Given the description of an element on the screen output the (x, y) to click on. 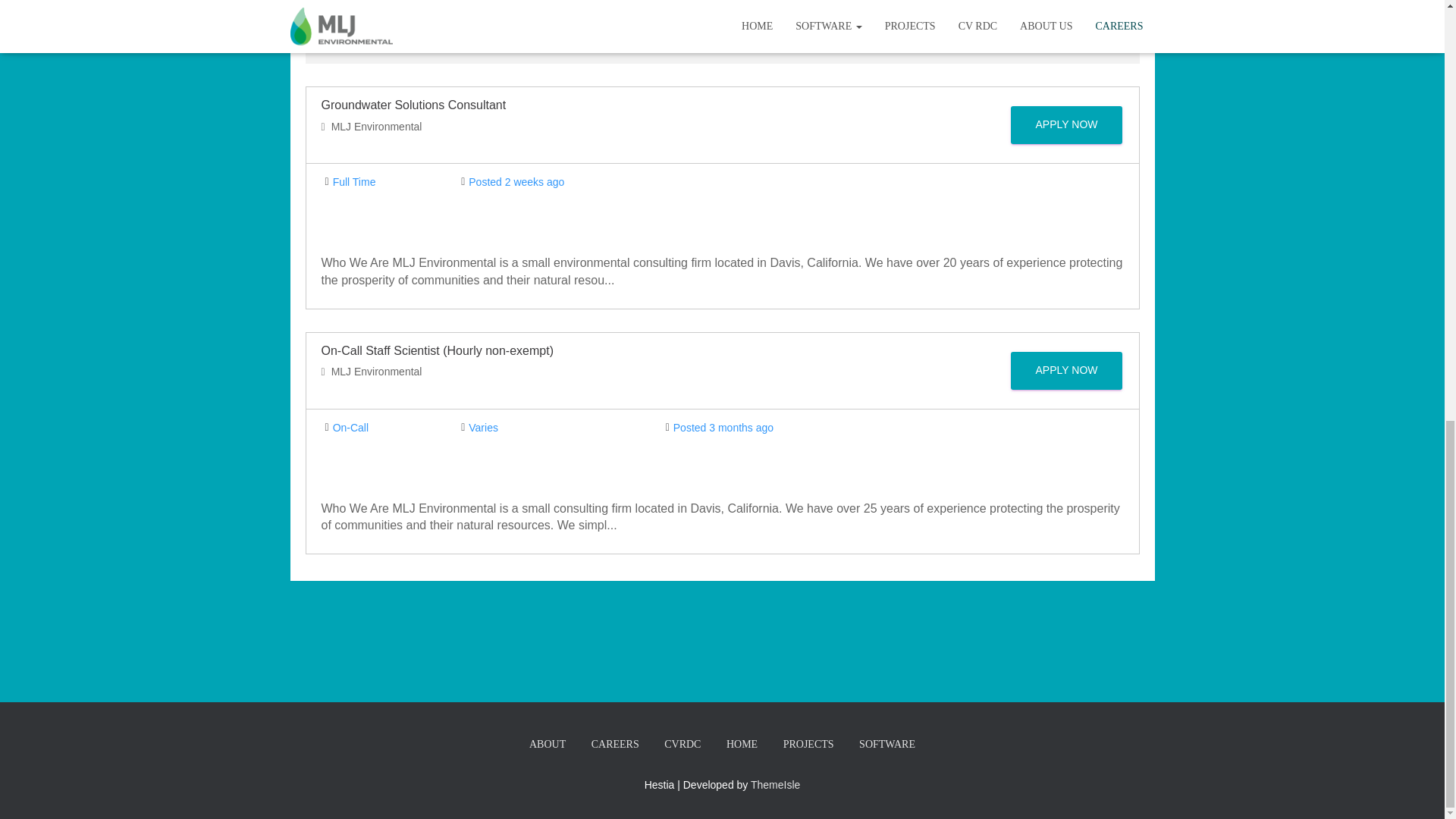
PROJECTS (808, 744)
CVRDC (681, 744)
ThemeIsle (775, 784)
SOFTWARE (886, 744)
APPLY NOW (1066, 370)
HOME (741, 744)
Groundwater Solutions Consultant (413, 104)
CAREERS (614, 744)
APPLY NOW (1066, 125)
ABOUT (547, 744)
